Given the description of an element on the screen output the (x, y) to click on. 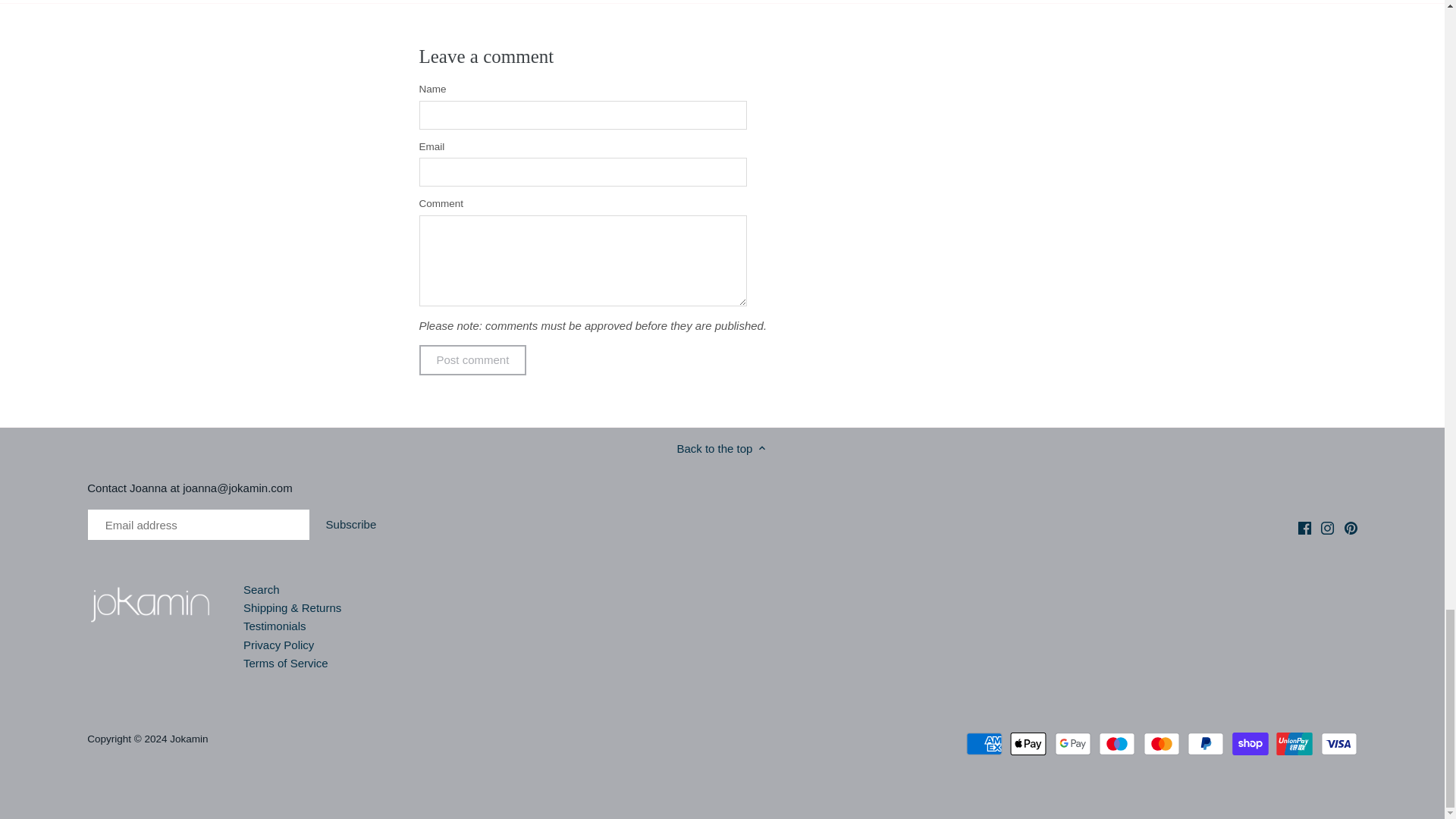
Apple Pay (1028, 743)
Facebook (1304, 527)
Pinterest (1349, 527)
Google Pay (1072, 743)
Post comment (472, 359)
Mastercard (1160, 743)
Back to the top (722, 447)
Post comment (472, 359)
Maestro (1117, 743)
Subscribe (350, 524)
